Given the description of an element on the screen output the (x, y) to click on. 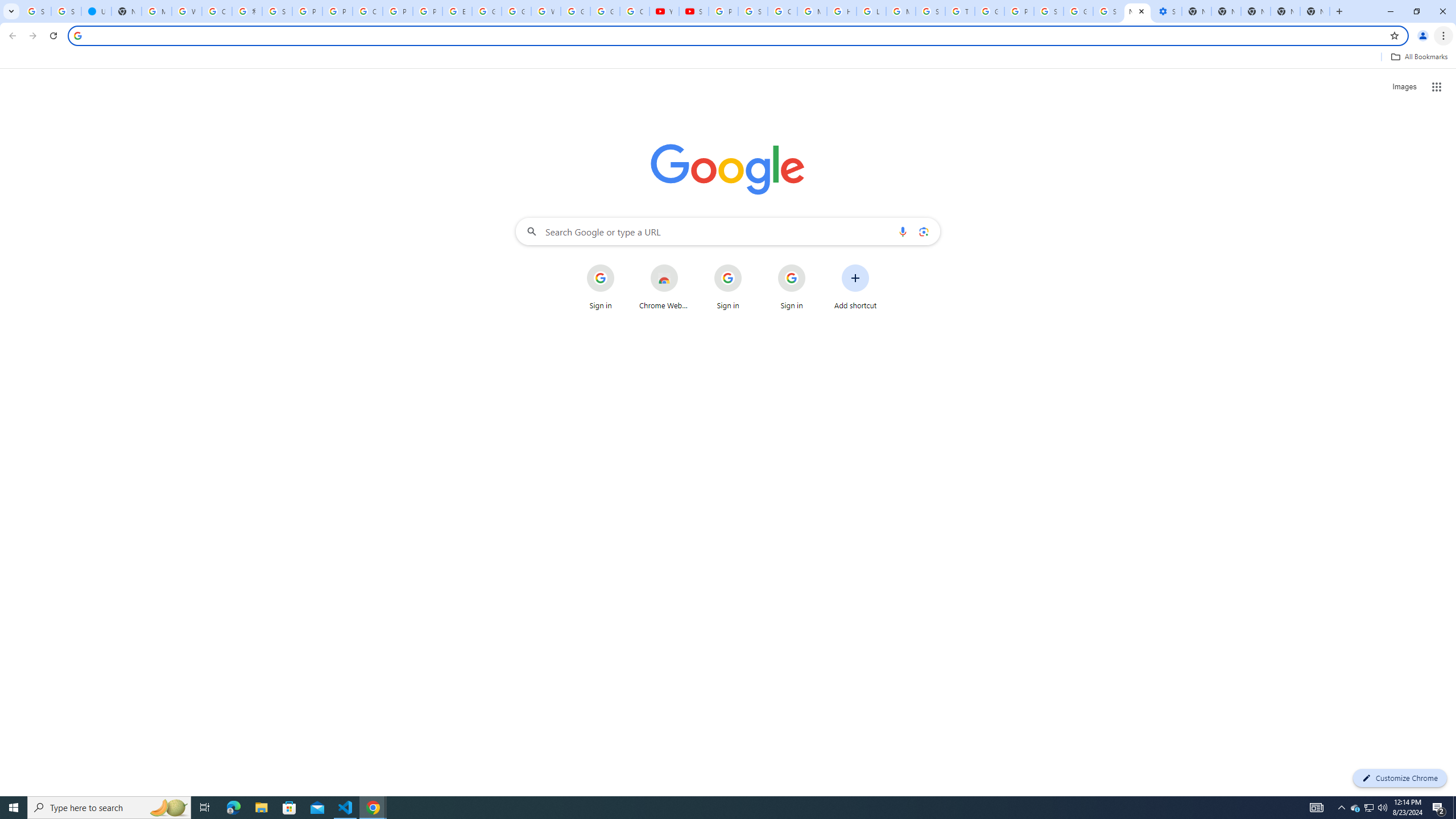
Settings - Performance (1166, 11)
Search our Doodle Library Collection - Google Doodles (930, 11)
Sign in - Google Accounts (1048, 11)
Sign in - Google Accounts (277, 11)
New Tab (1284, 11)
USA TODAY (95, 11)
More actions for Chrome Web Store shortcut (686, 265)
Create your Google Account (367, 11)
Sign in - Google Accounts (65, 11)
